Given the description of an element on the screen output the (x, y) to click on. 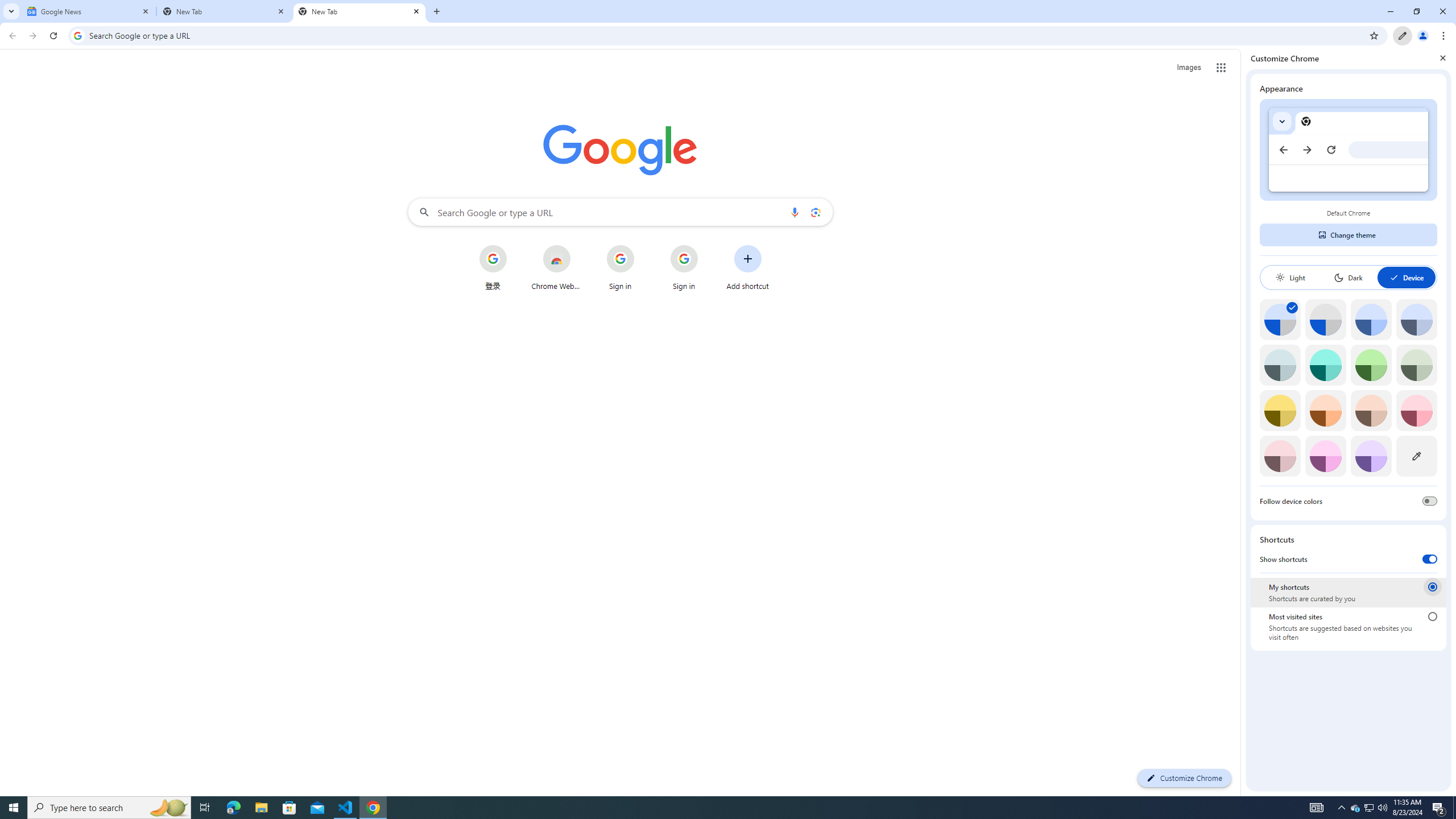
Side Panel Resize Handle (1242, 422)
Customize Chrome (1402, 35)
New Tab (359, 11)
Default Chrome (1348, 149)
Grey default color (1325, 318)
Change theme (1348, 234)
Viridian (1416, 364)
Most visited sites (1432, 615)
Grey (1279, 364)
Blue (1371, 318)
